Given the description of an element on the screen output the (x, y) to click on. 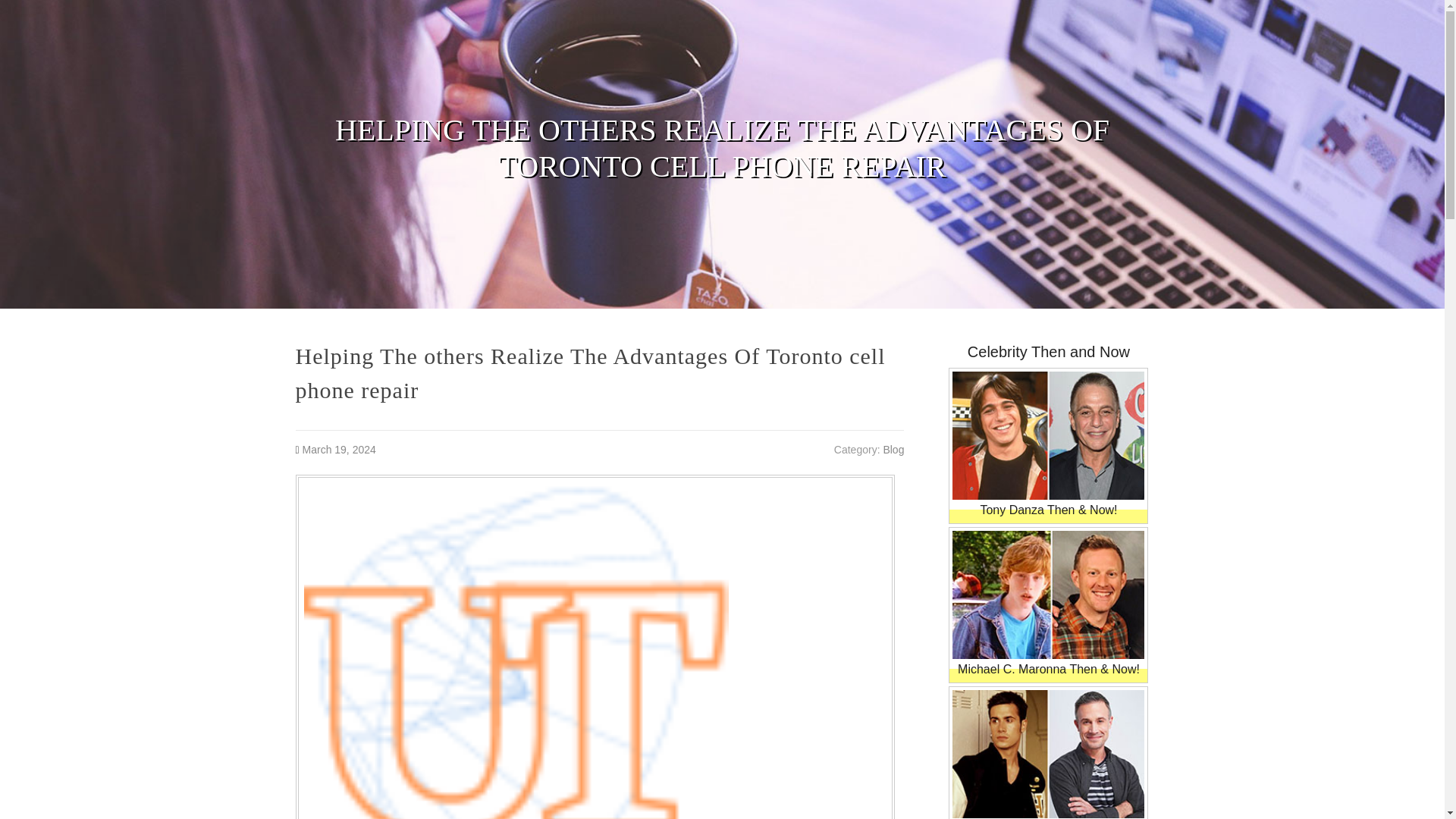
Skip to content (40, 10)
March 19, 2024 (338, 449)
Blog (893, 449)
